Given the description of an element on the screen output the (x, y) to click on. 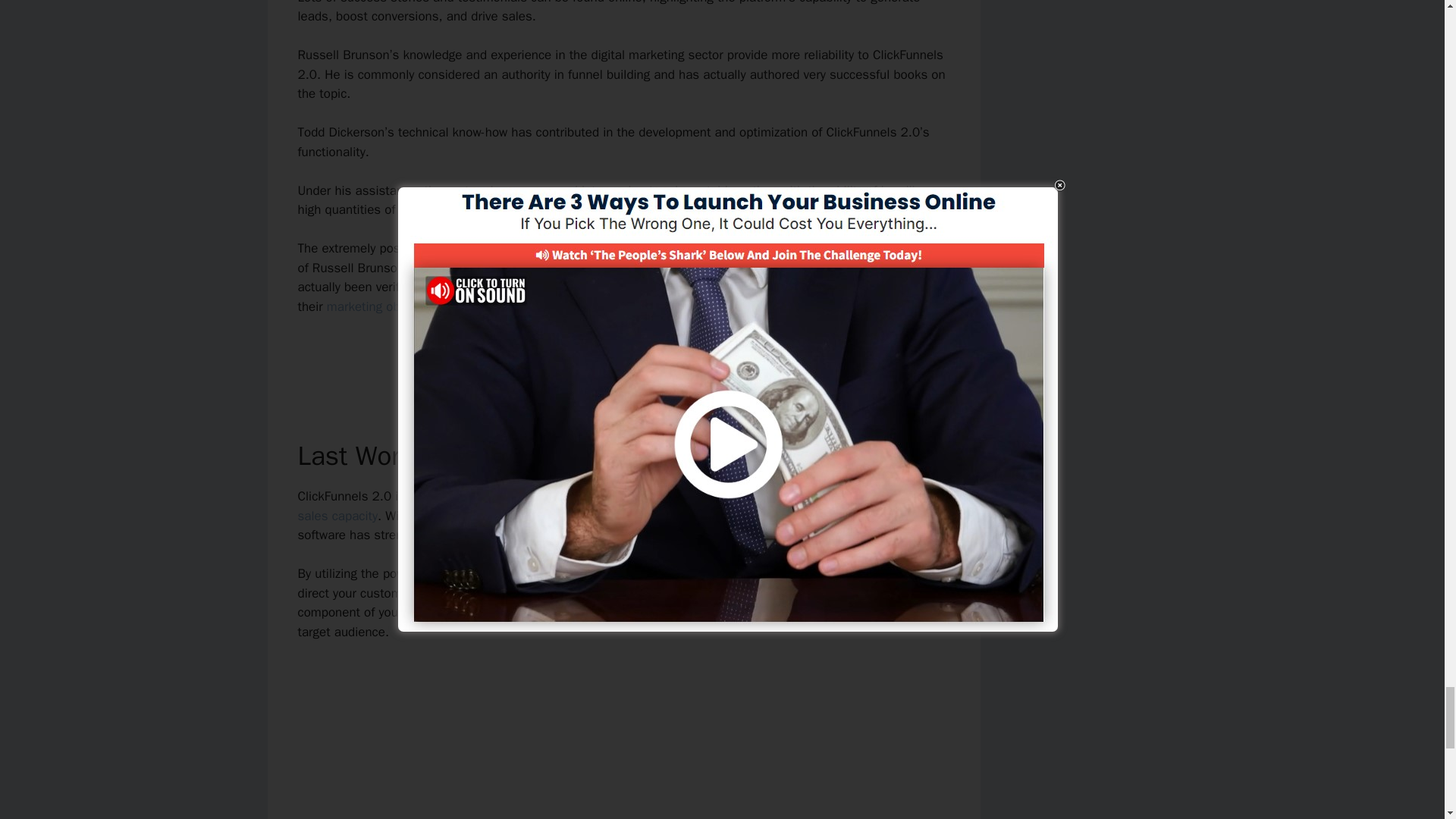
Click Here To Test Drive ClickFunnels 2.0 (622, 359)
sales capacity (337, 515)
marketing objectives (384, 306)
